Given the description of an element on the screen output the (x, y) to click on. 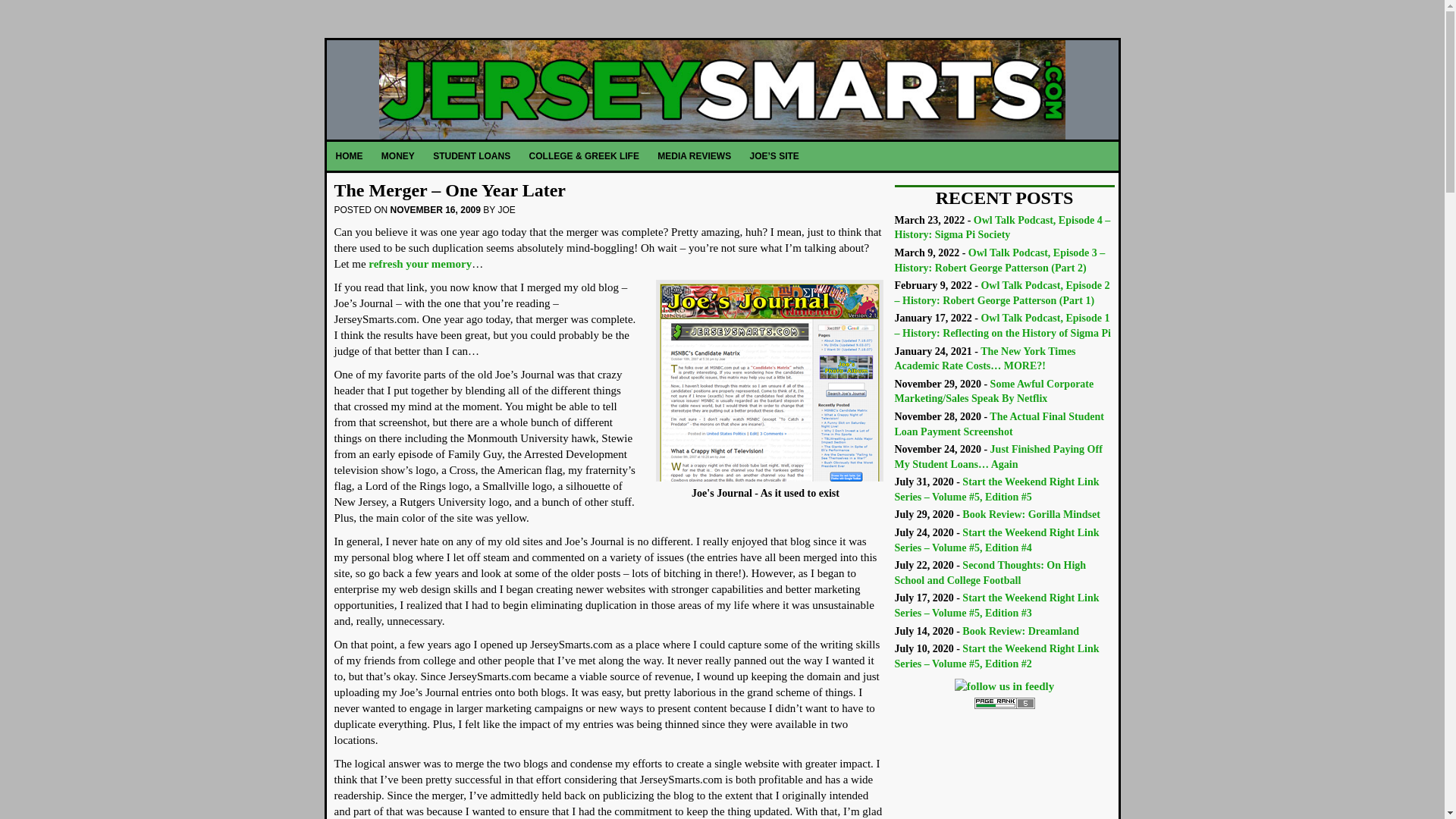
July 22, 2020 (990, 572)
HOME (349, 155)
refresh your memory (419, 263)
July 24, 2020 (997, 540)
March 9, 2022 (1000, 260)
MEDIA REVIEWS (694, 155)
STUDENT LOANS (471, 155)
MONEY (398, 155)
July 29, 2020 (1031, 514)
January 24, 2021 (985, 358)
